Given the description of an element on the screen output the (x, y) to click on. 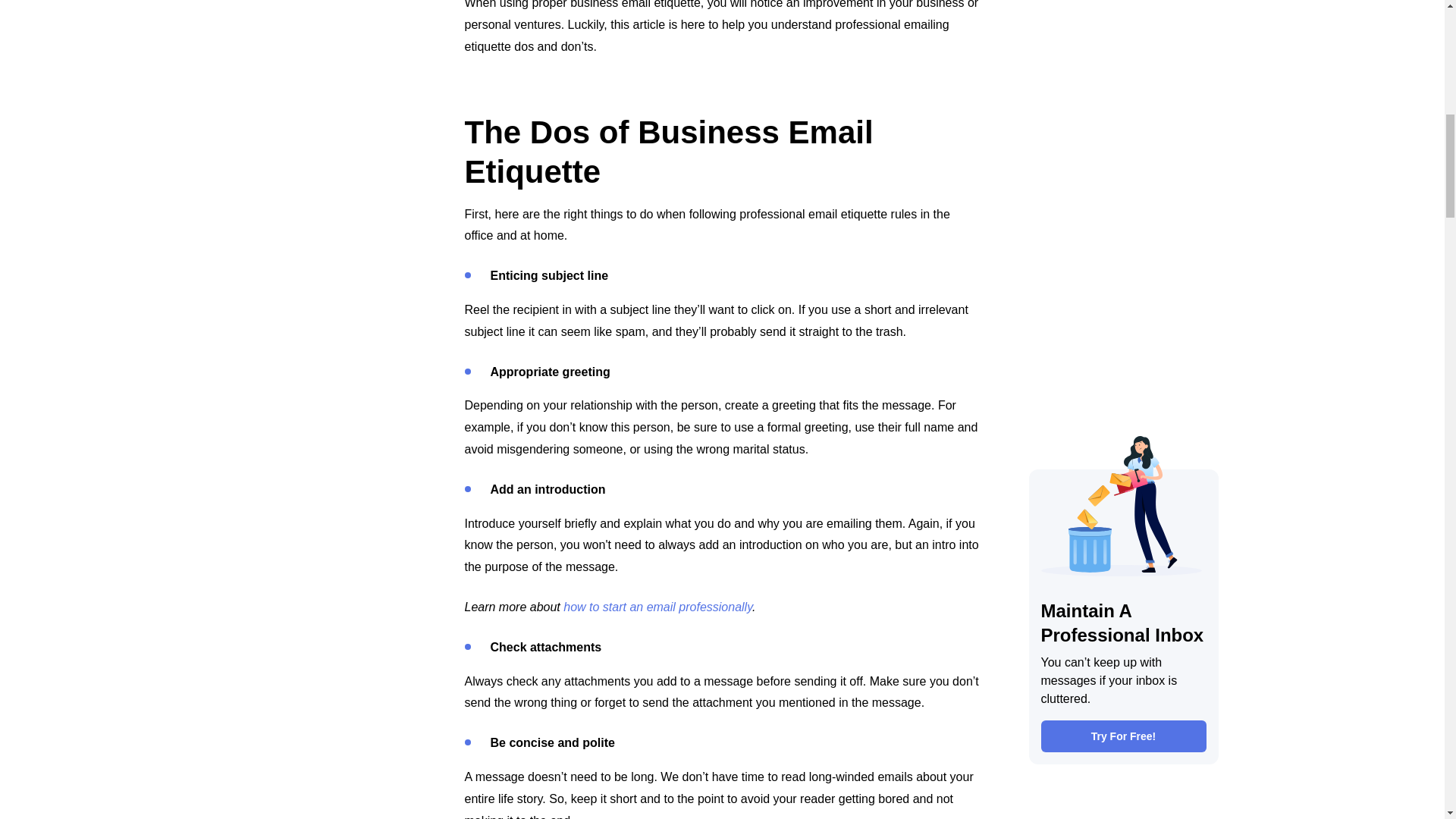
how to start an email professionally (657, 606)
Try For Free! (1123, 29)
